Given the description of an element on the screen output the (x, y) to click on. 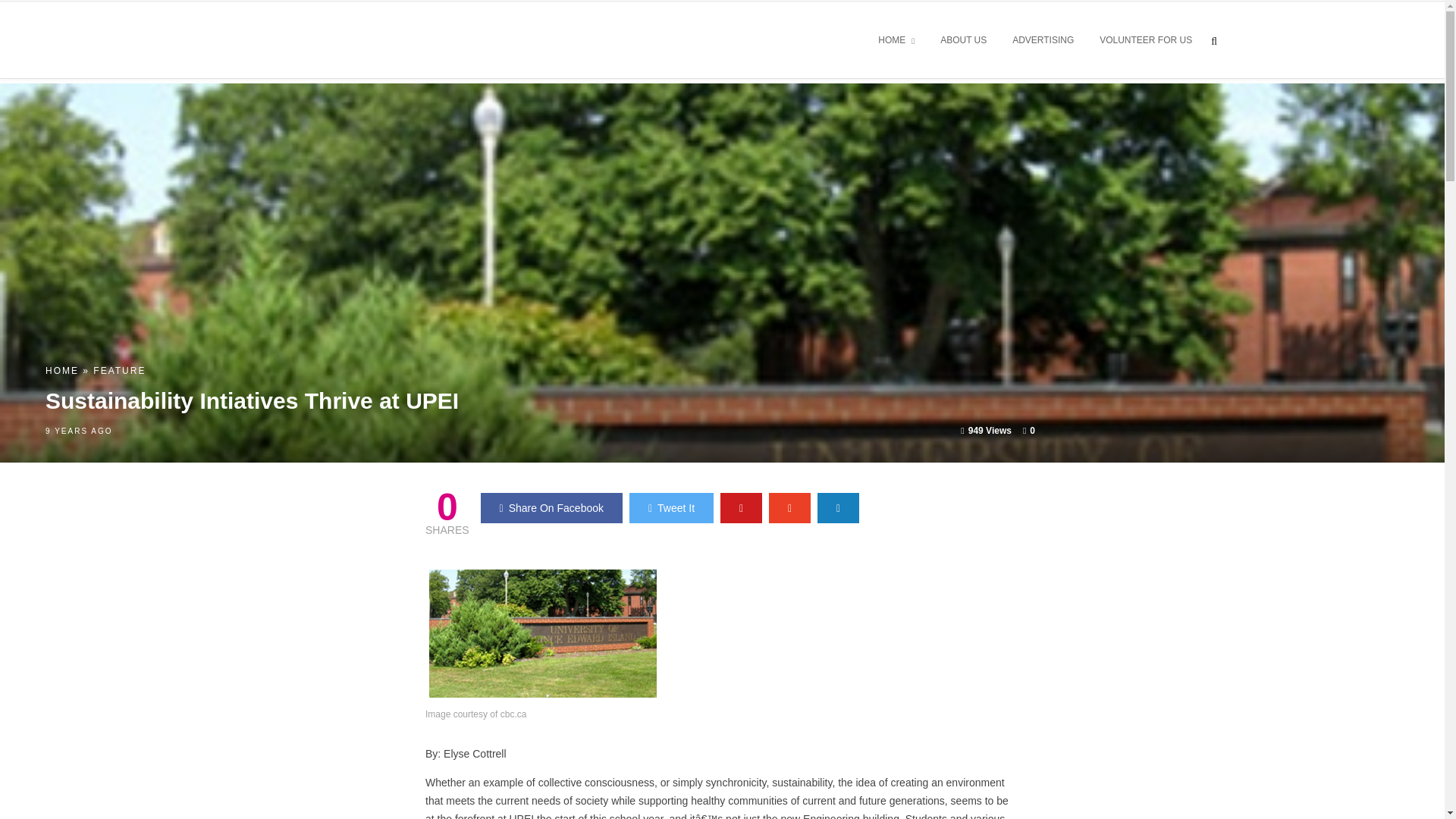
Share On Twitter (670, 508)
0 (1029, 430)
ABOUT US (962, 40)
Share by Email (837, 508)
HOME (896, 40)
HOME (61, 370)
Share On Facebook (551, 508)
Share On Facebook (551, 508)
VOLUNTEER FOR US (1145, 40)
Share On Pinterest (740, 508)
Tweet It (670, 508)
FEATURE (119, 370)
ADVERTISING (1042, 40)
